Given the description of an element on the screen output the (x, y) to click on. 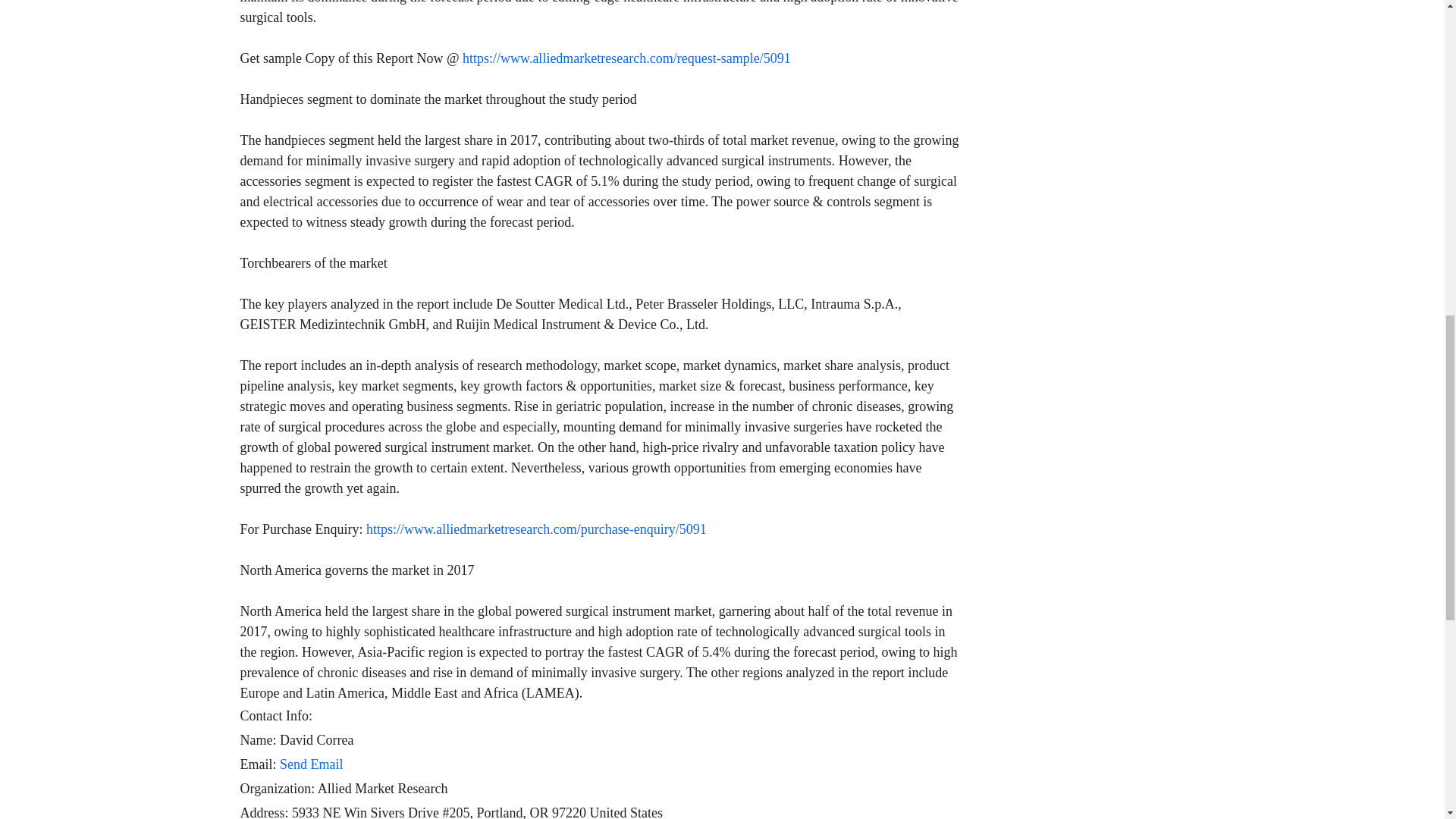
Send Email (311, 764)
